Given the description of an element on the screen output the (x, y) to click on. 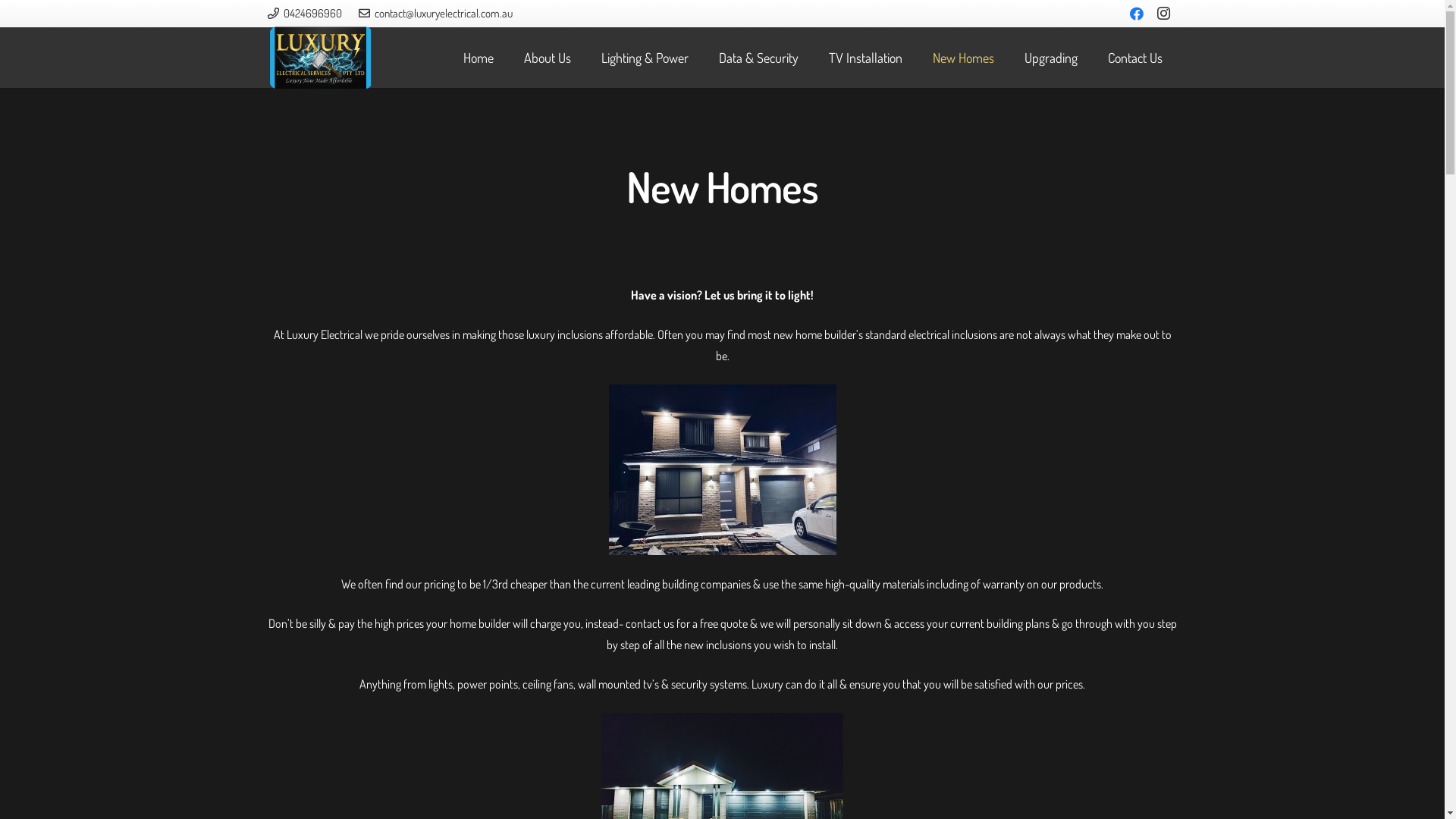
Data & Security Element type: text (758, 57)
Instagram Element type: hover (1163, 13)
Facebook Element type: hover (1136, 13)
0424696960 Element type: text (303, 13)
About Us Element type: text (547, 57)
New Homes Element type: text (963, 57)
Upgrading Element type: text (1050, 57)
contact@luxuryelectrical.com.au Element type: text (435, 13)
Home Element type: text (478, 57)
Contact Us Element type: text (1134, 57)
Lighting & Power Element type: text (644, 57)
TV Installation Element type: text (865, 57)
